Given the description of an element on the screen output the (x, y) to click on. 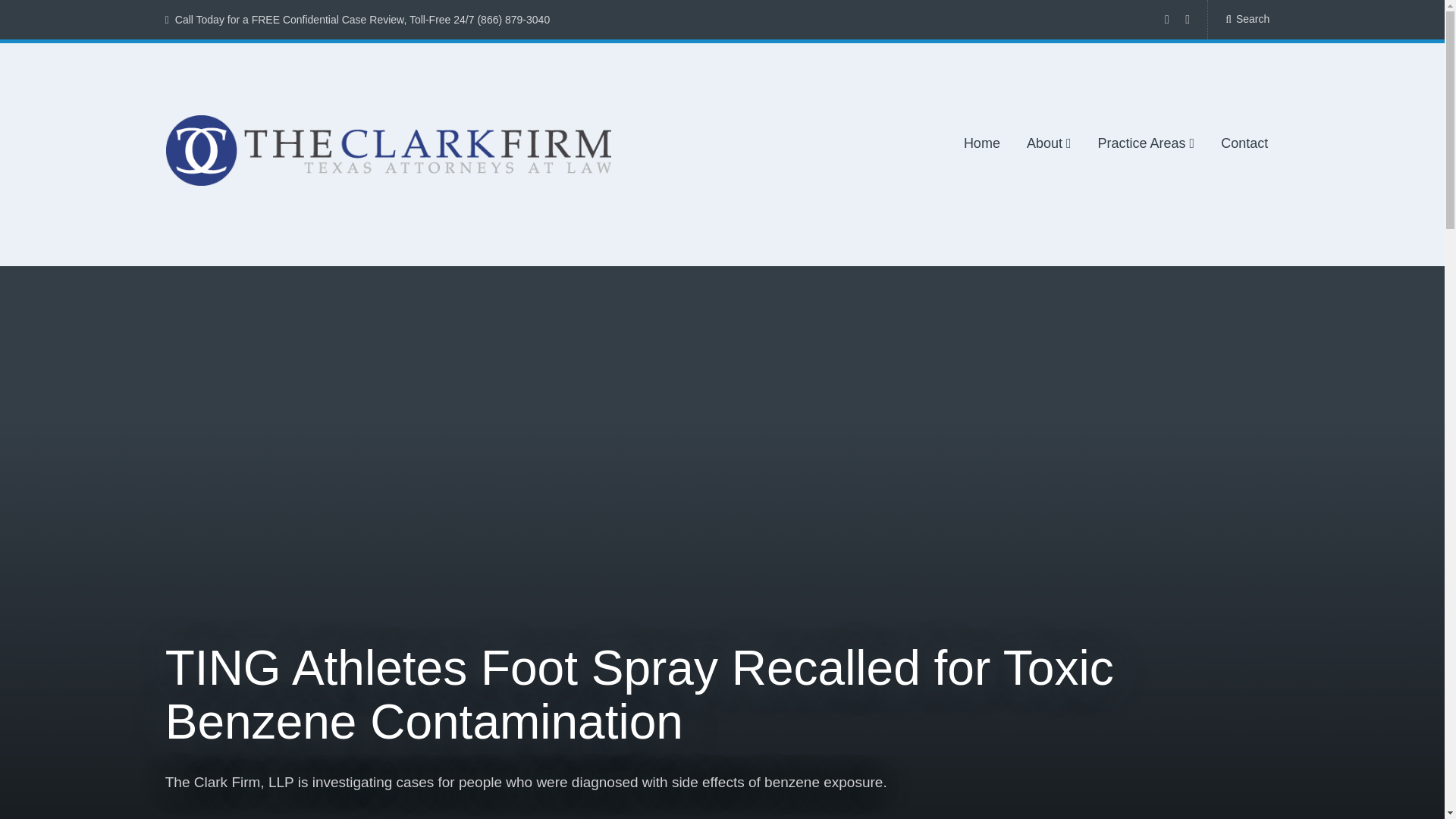
Home (981, 143)
About (1048, 143)
